Given the description of an element on the screen output the (x, y) to click on. 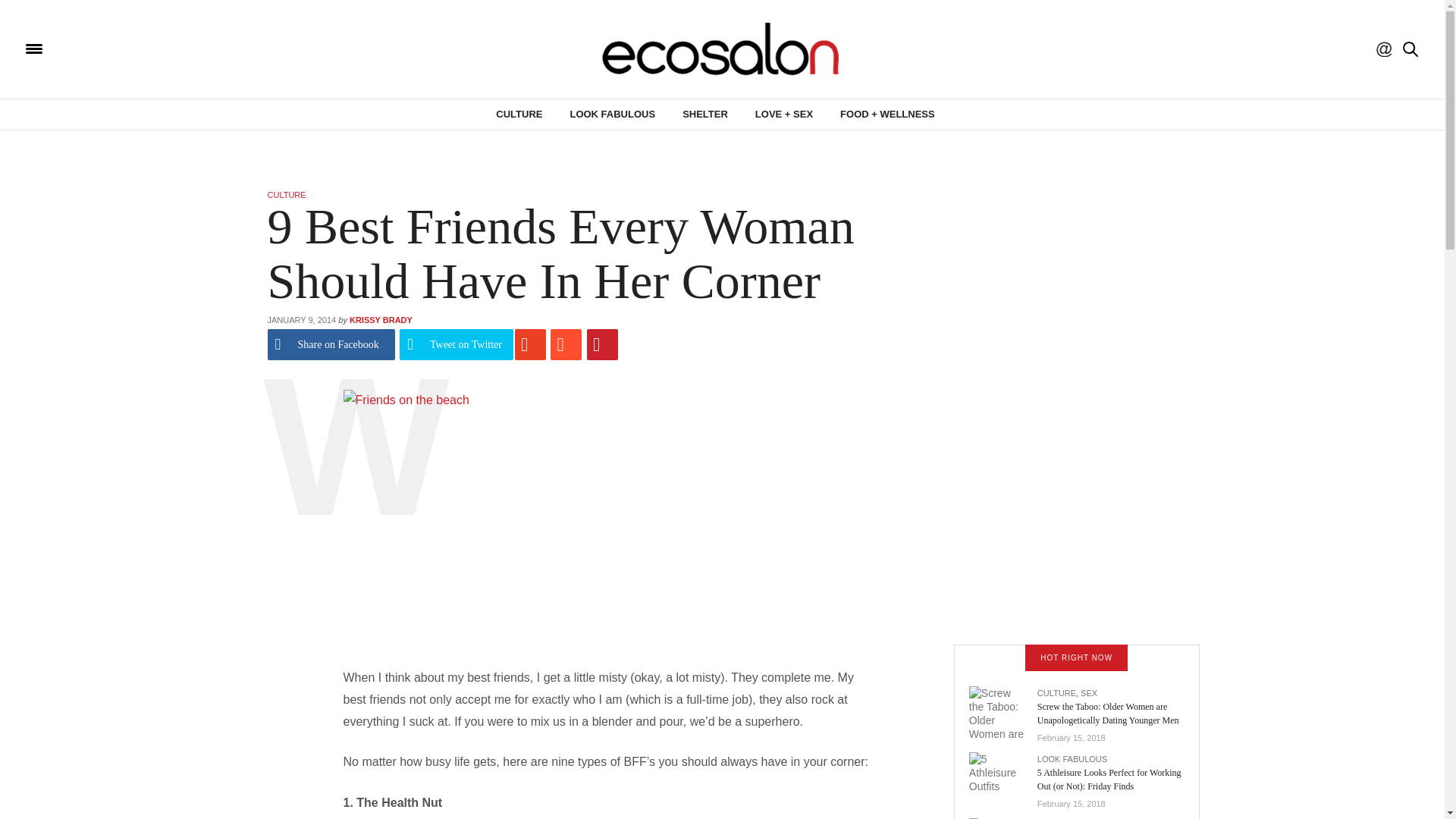
EcoSalon (125, 47)
LOOK FABULOUS (612, 114)
EcoSalon (722, 49)
CULTURE (518, 114)
SHELTER (705, 114)
